Given the description of an element on the screen output the (x, y) to click on. 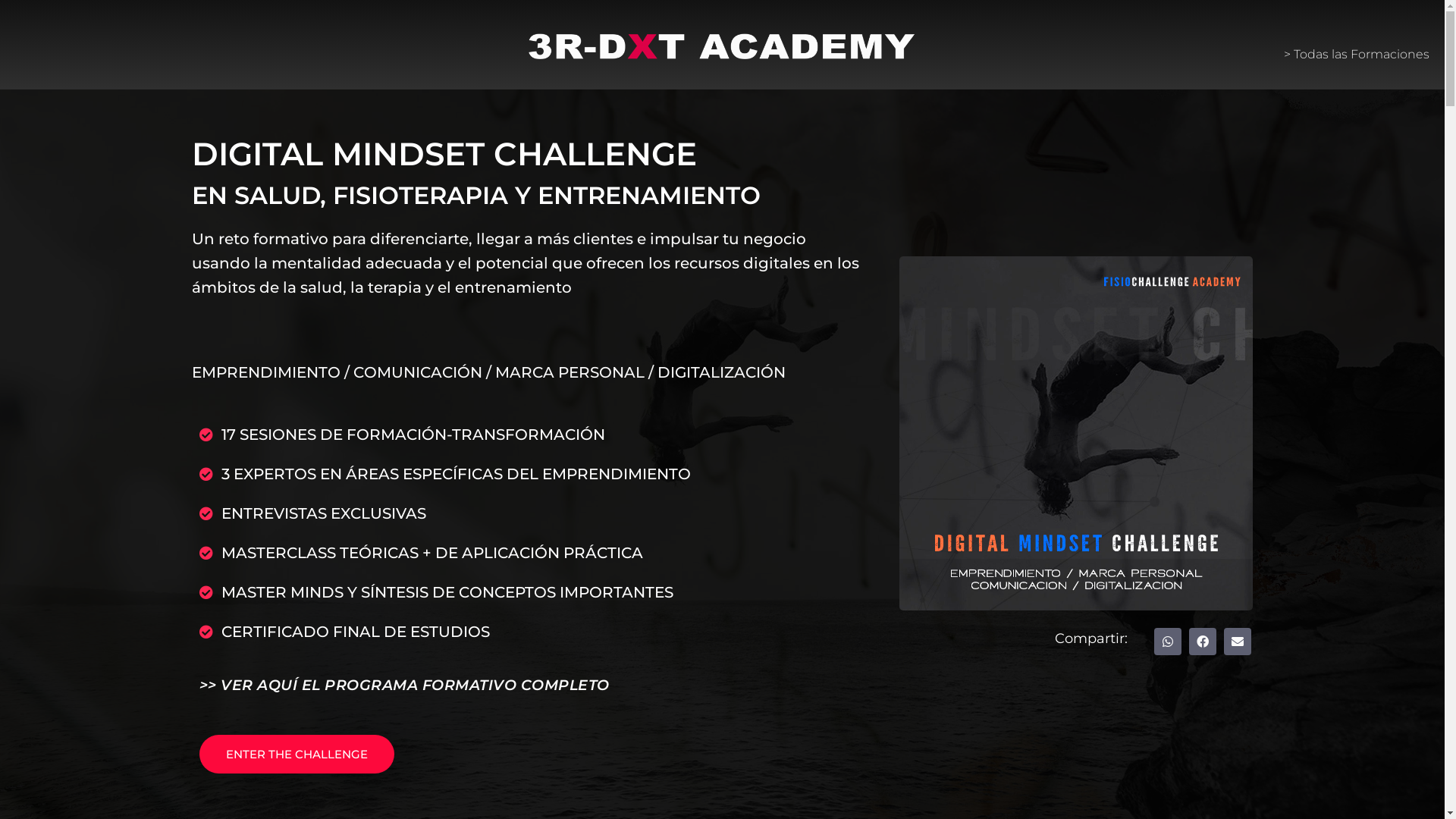
ENTER THE CHALLENGE Element type: text (295, 753)
> Todas las Formaciones Element type: text (1352, 54)
